Given the description of an element on the screen output the (x, y) to click on. 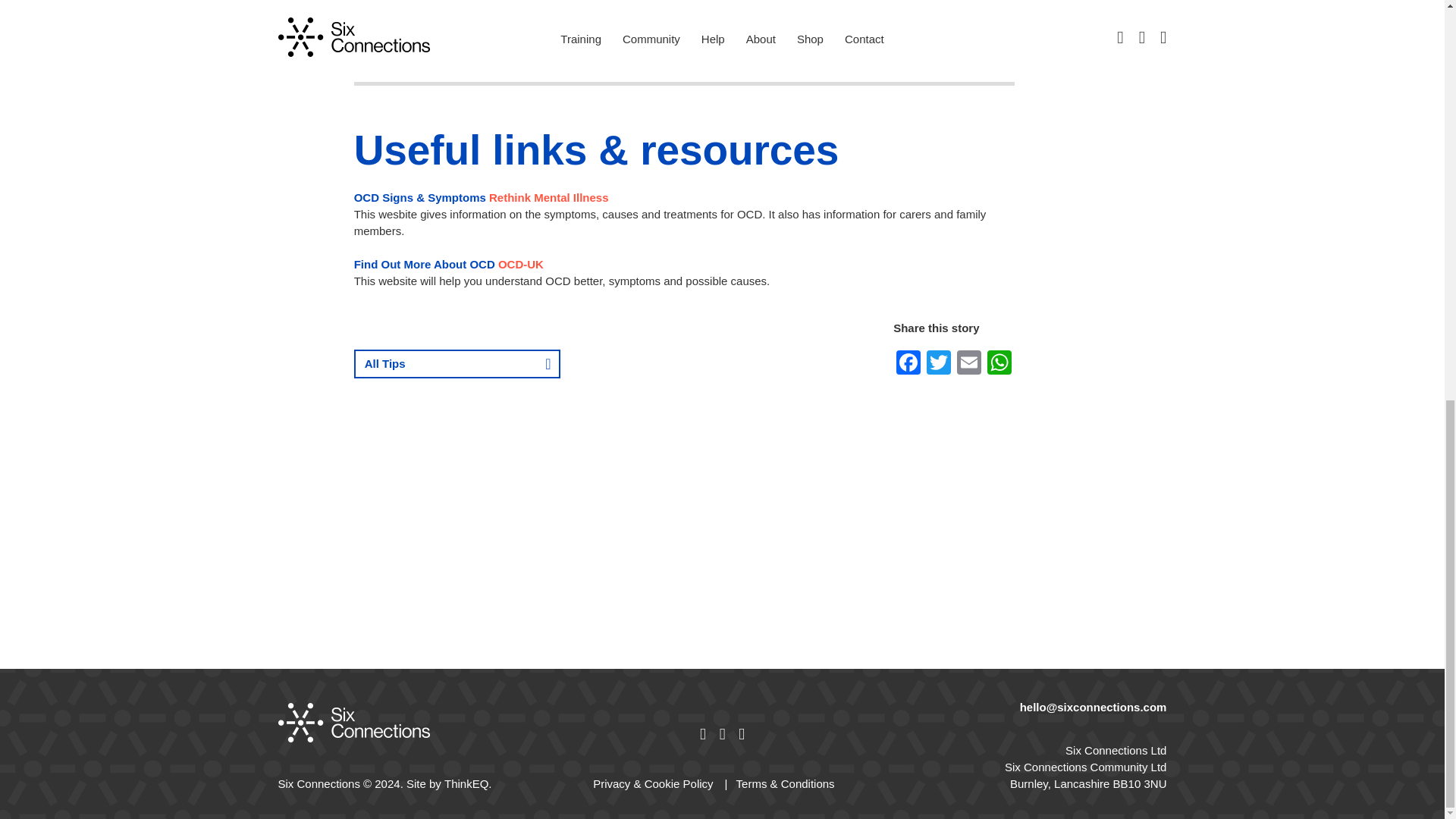
Facebook (908, 364)
ThinkEQ. (468, 783)
Rethink Mental Illness (548, 197)
WhatsApp (999, 364)
Email (968, 364)
All Tips (456, 363)
Facebook (908, 364)
Twitter (938, 364)
Twitter (938, 364)
OCD-UK (520, 264)
